Given the description of an element on the screen output the (x, y) to click on. 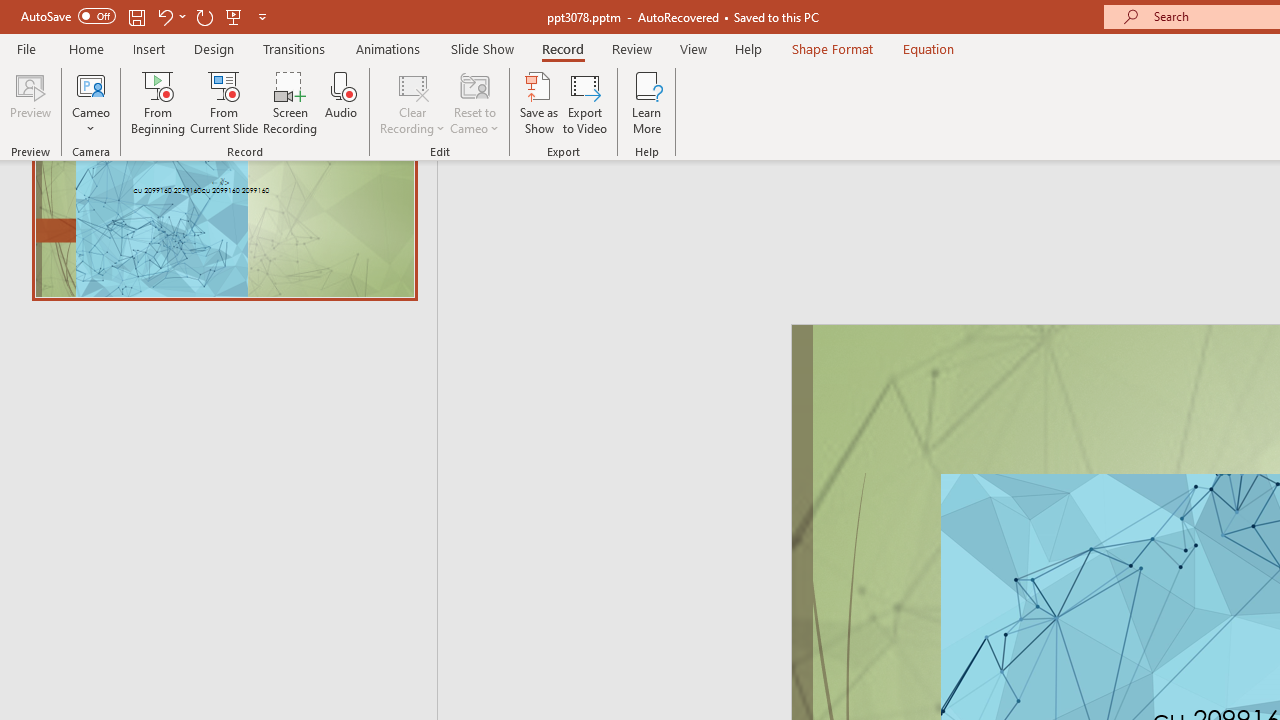
Shape Format (832, 48)
